Given the description of an element on the screen output the (x, y) to click on. 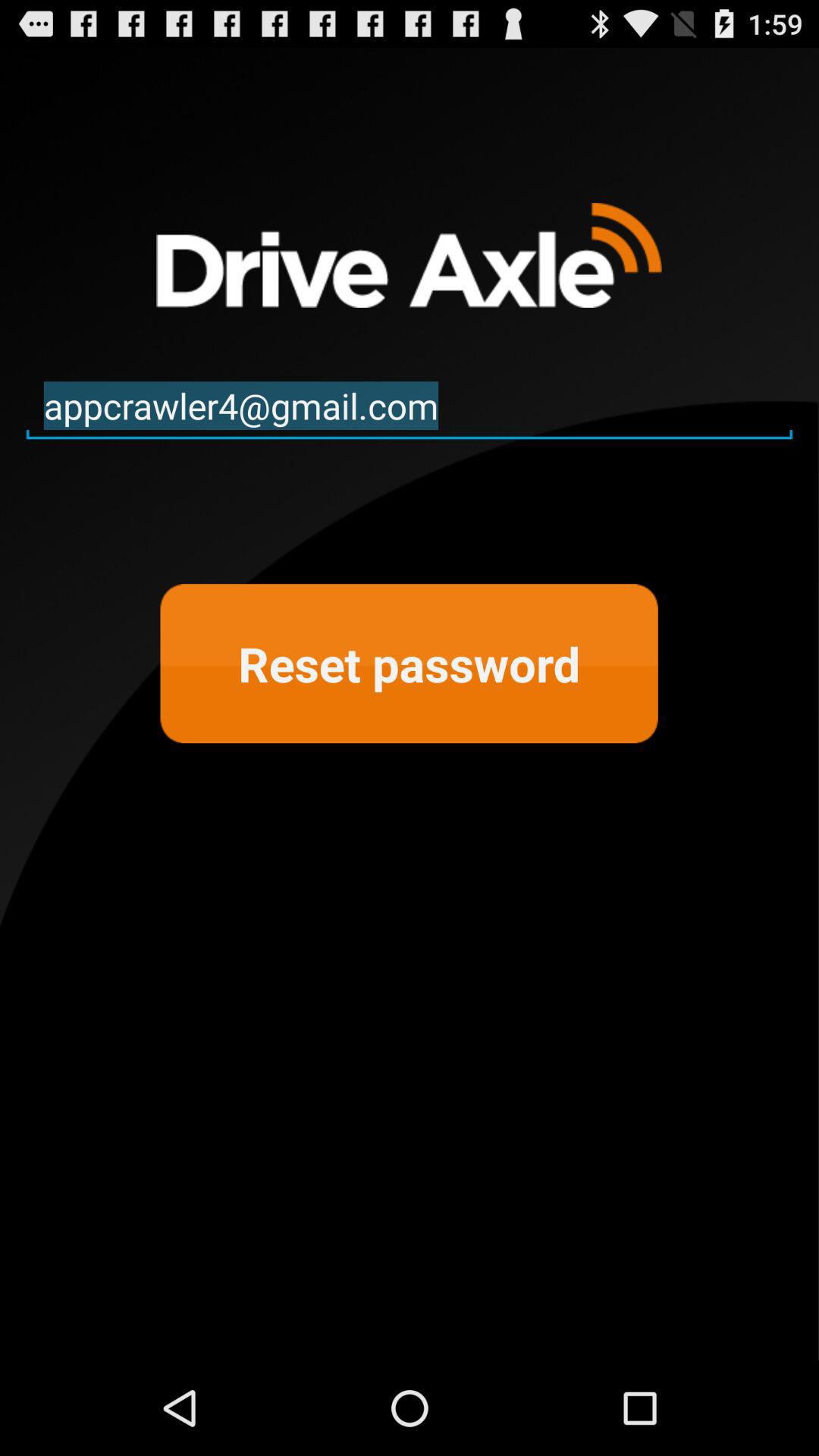
turn off reset password at the center (409, 663)
